Given the description of an element on the screen output the (x, y) to click on. 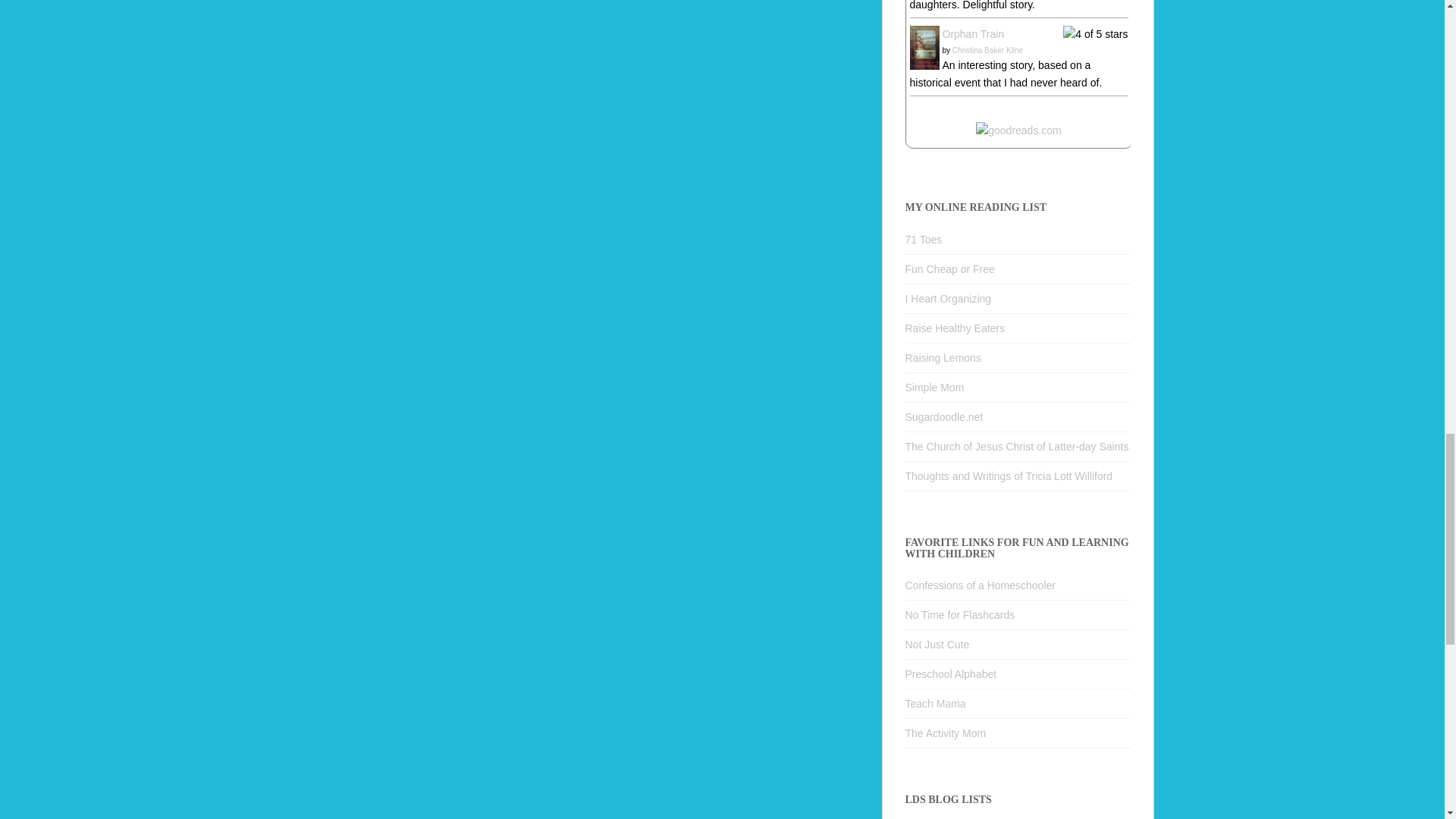
Orphan Train (924, 46)
